Given the description of an element on the screen output the (x, y) to click on. 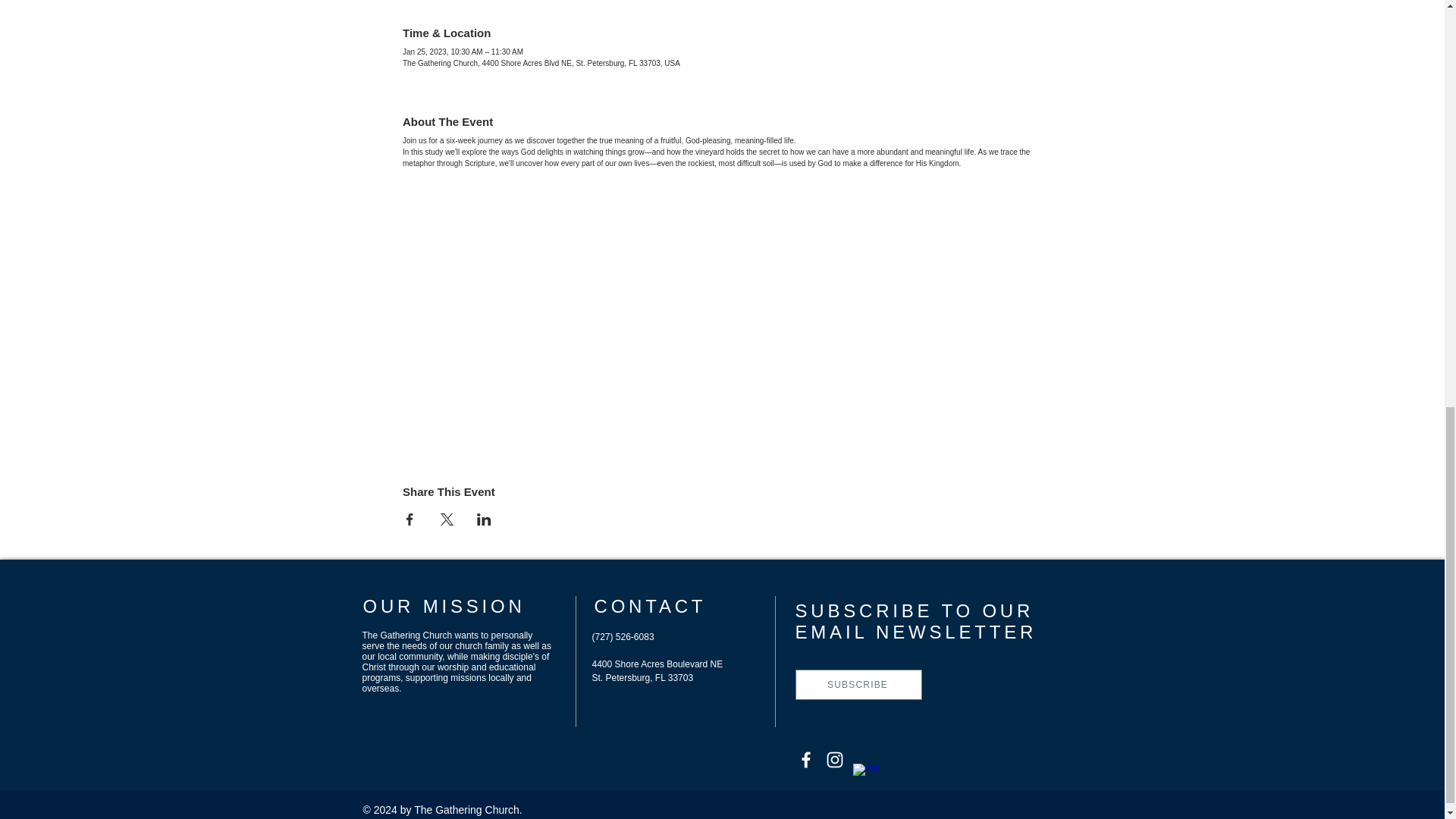
SUBSCRIBE (857, 684)
